Given the description of an element on the screen output the (x, y) to click on. 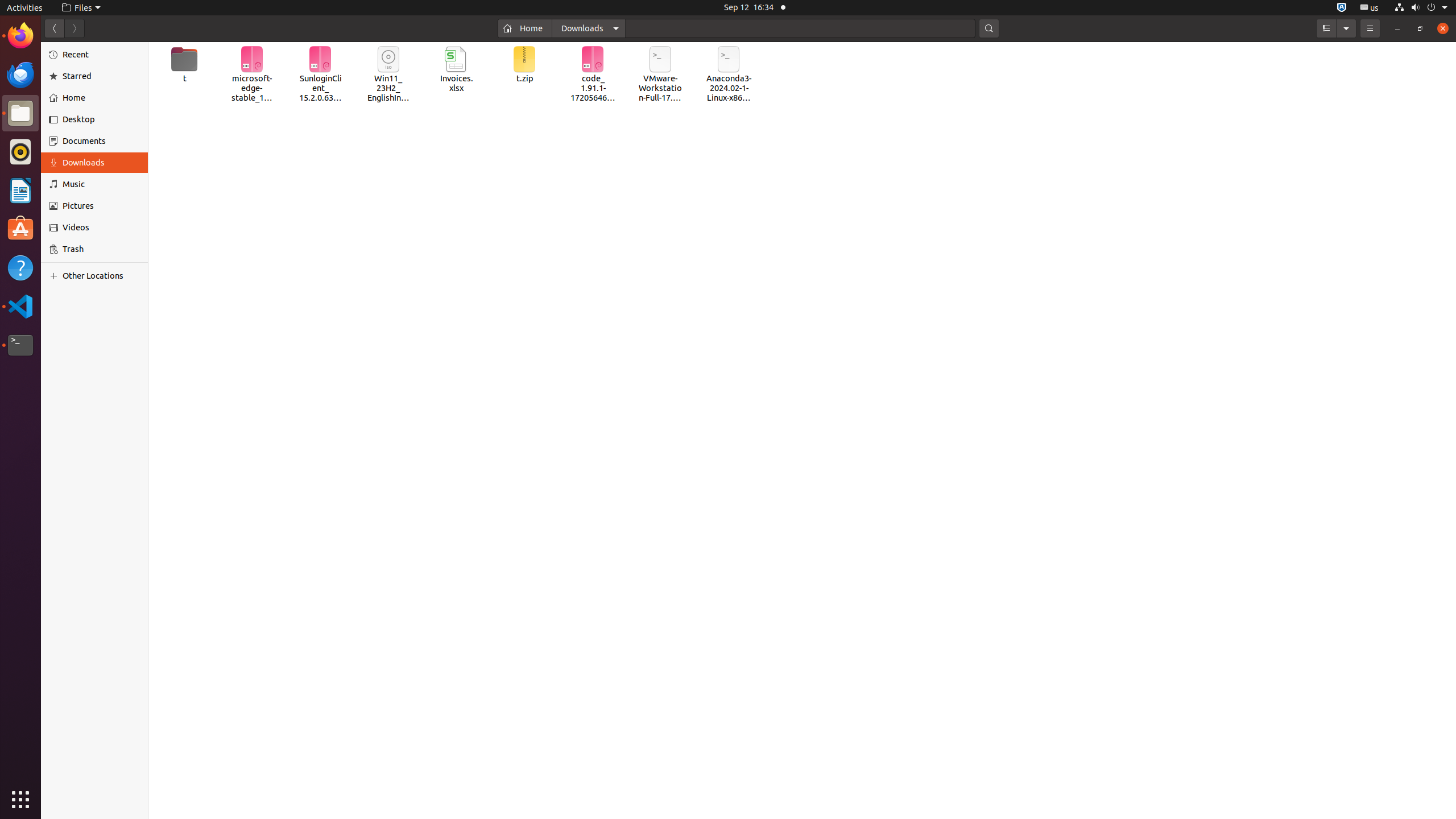
Activities Element type: label (24, 7)
SunloginClient_15.2.0.63064_amd64.deb Element type: canvas (320, 74)
Downloads Element type: push-button (588, 28)
Home Element type: label (100, 97)
